Given the description of an element on the screen output the (x, y) to click on. 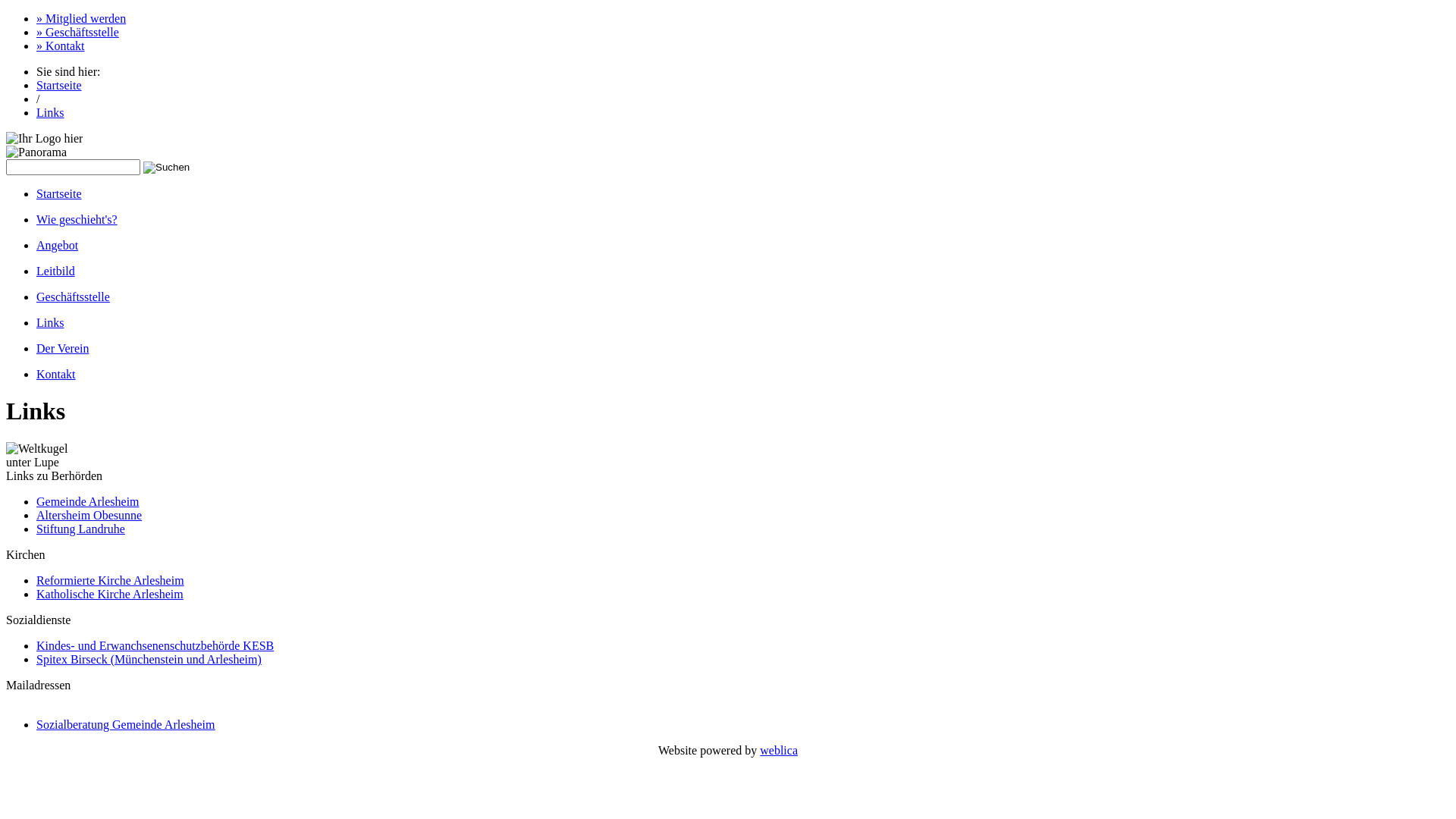
Wie geschieht's? Element type: text (76, 219)
Panorama Element type: hover (36, 152)
Altersheim Obesunne Element type: text (88, 514)
Sozialberatung Gemeinde Arlesheim Element type: text (125, 724)
Angebot Element type: text (57, 244)
weblica Element type: text (778, 749)
Katholische Kirche Arlesheim Element type: text (109, 593)
Stiftung Landruhe Element type: text (80, 528)
Reformierte Kirche Arlesheim Element type: text (110, 580)
Ihr Logo hier Element type: hover (44, 138)
Startseite Element type: text (58, 193)
Weltkugel unter Lupe Element type: hover (40, 455)
Der Verein Element type: text (62, 348)
Kontakt Element type: text (55, 373)
Links Element type: text (49, 322)
Leitbild Element type: text (55, 270)
Links Element type: text (49, 112)
Gemeinde Arlesheim Element type: text (87, 501)
Startseite Element type: text (58, 84)
